Given the description of an element on the screen output the (x, y) to click on. 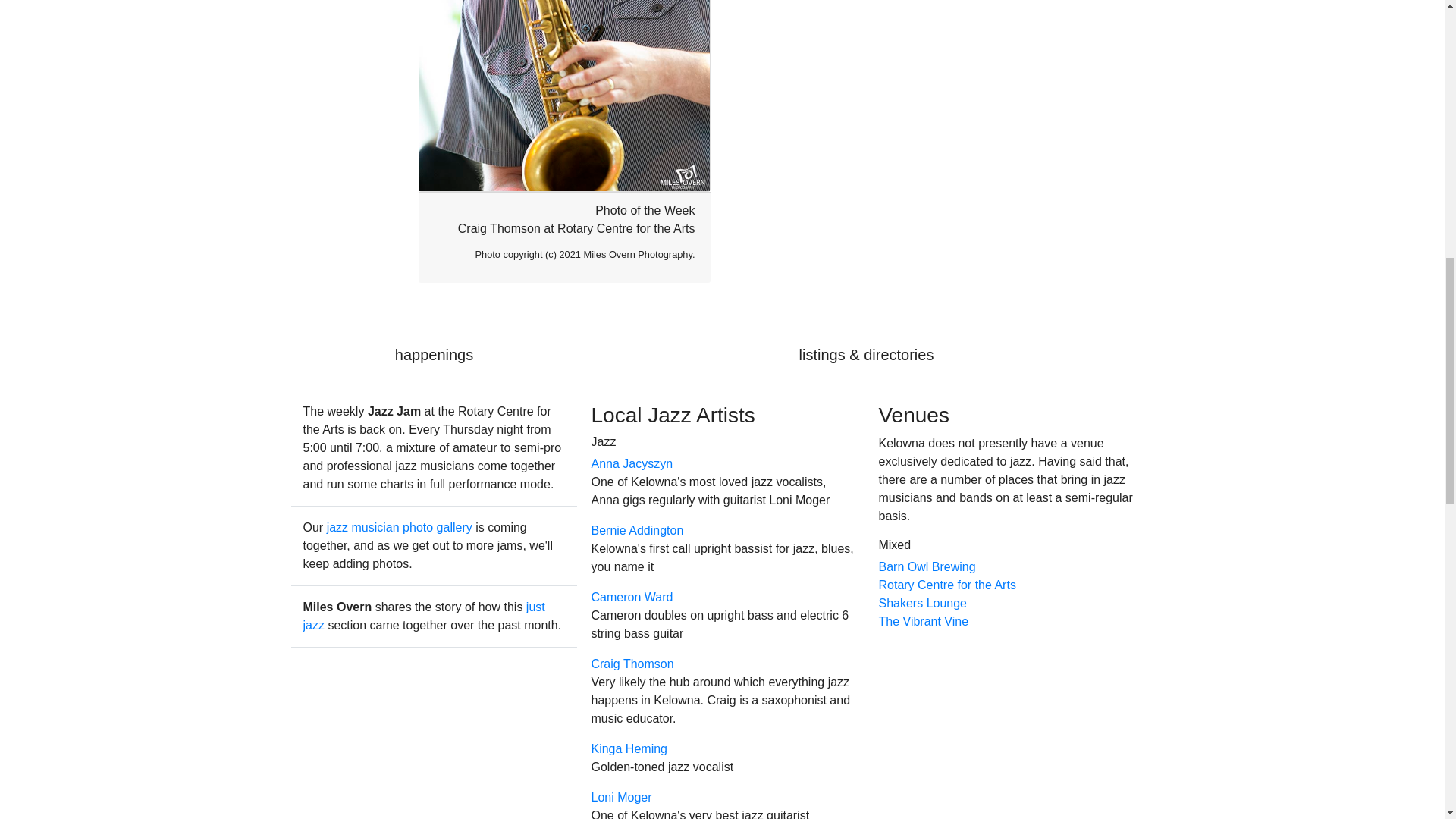
just jazz (423, 615)
Loni Moger (620, 797)
Cameron Ward (631, 596)
jazz musician photo gallery (398, 526)
Bernie Addington (636, 530)
Kinga Heming (628, 748)
Craig Thomson (631, 663)
Anna Jacyszyn (631, 463)
